Given the description of an element on the screen output the (x, y) to click on. 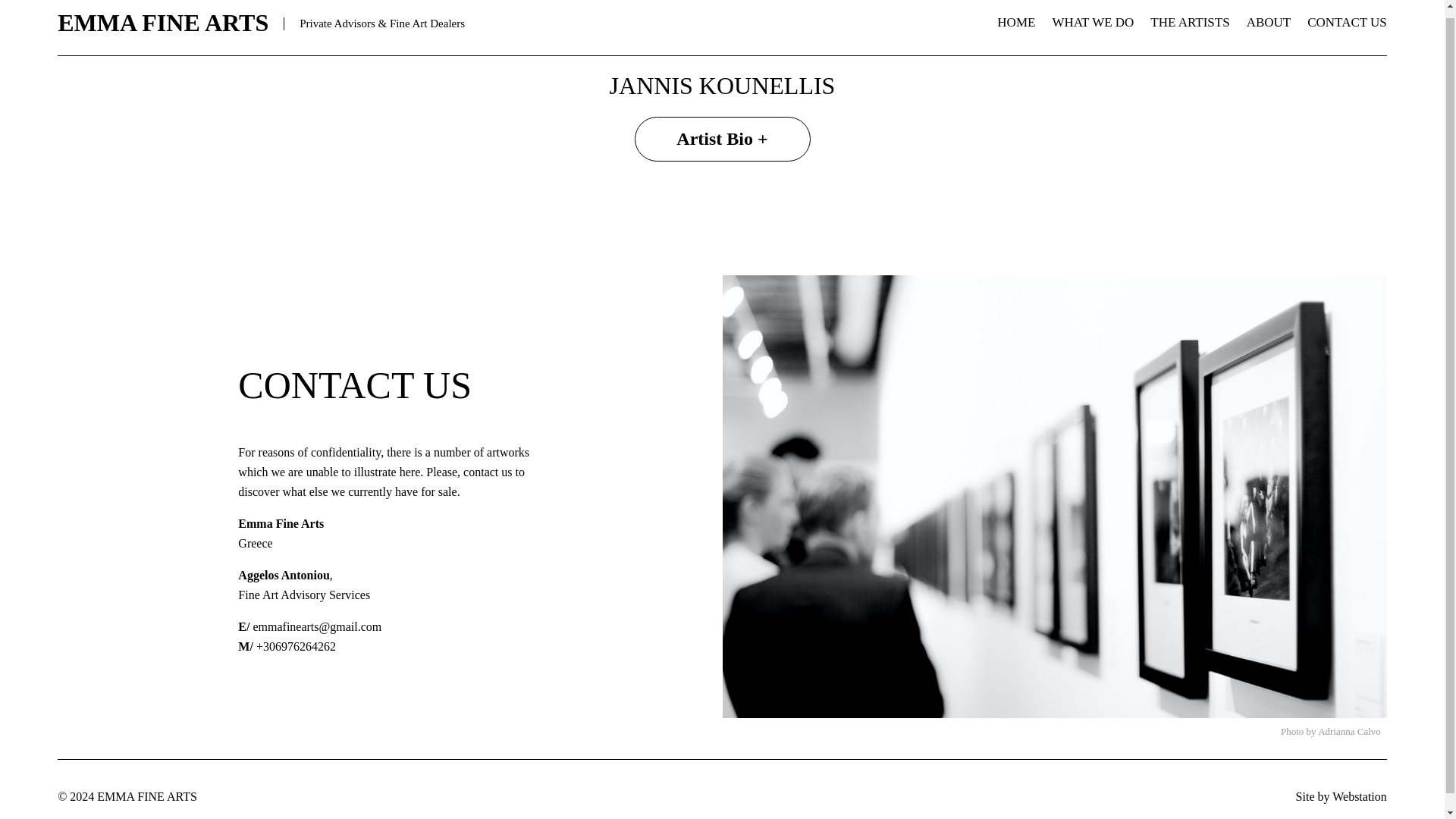
WHAT WE DO (1092, 22)
CONTACT US (1347, 22)
ABOUT (1268, 22)
THE ARTISTS (1189, 22)
WHAT WE DO (1092, 22)
EMMA FINE ARTS (162, 22)
EMMA FINE ARTS (162, 22)
THE ARTISTS (1189, 22)
HOME (1016, 22)
HOME (1016, 22)
